Given the description of an element on the screen output the (x, y) to click on. 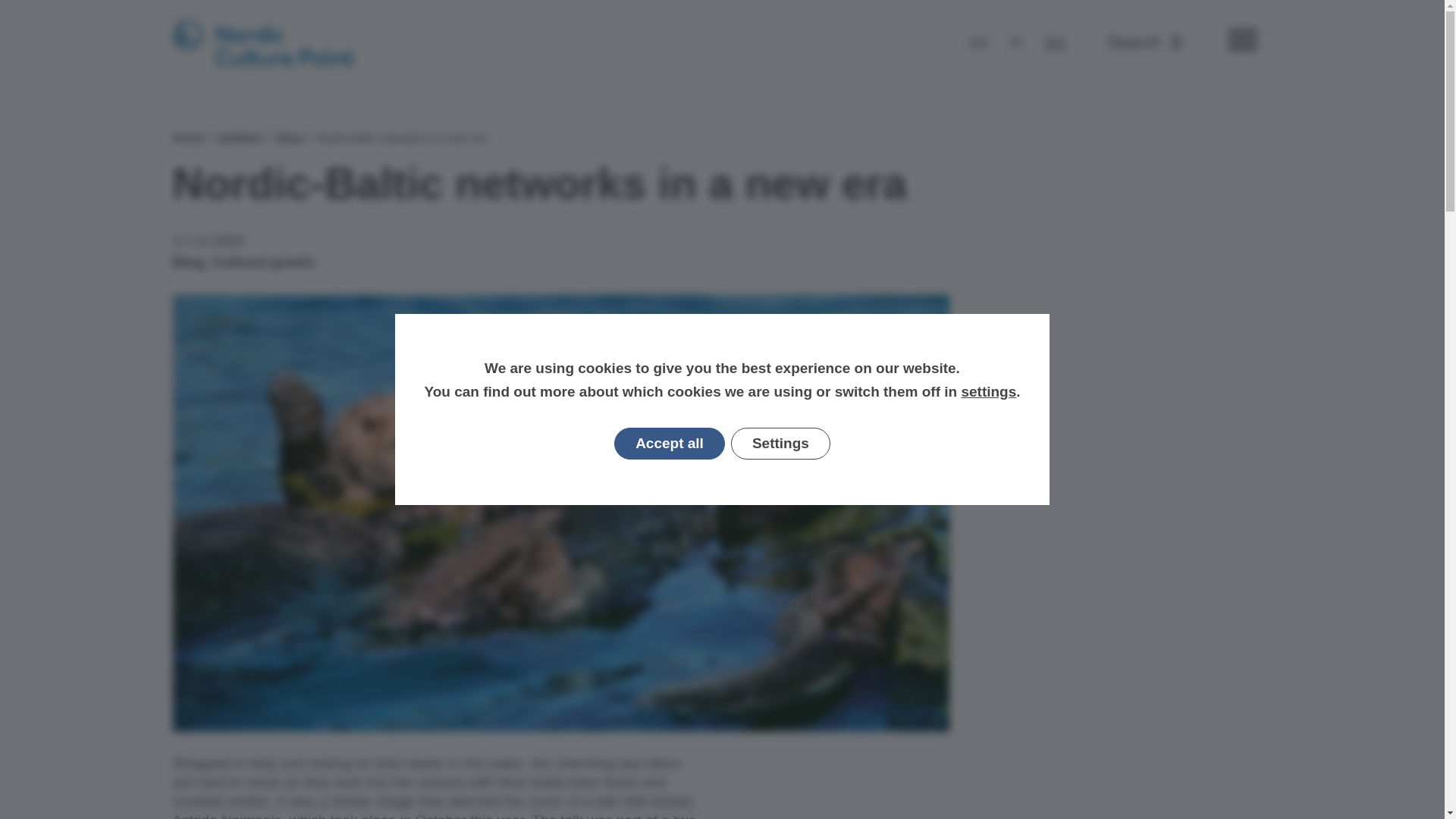
Main Menu (1242, 43)
SV (1144, 43)
EN (979, 42)
